Given the description of an element on the screen output the (x, y) to click on. 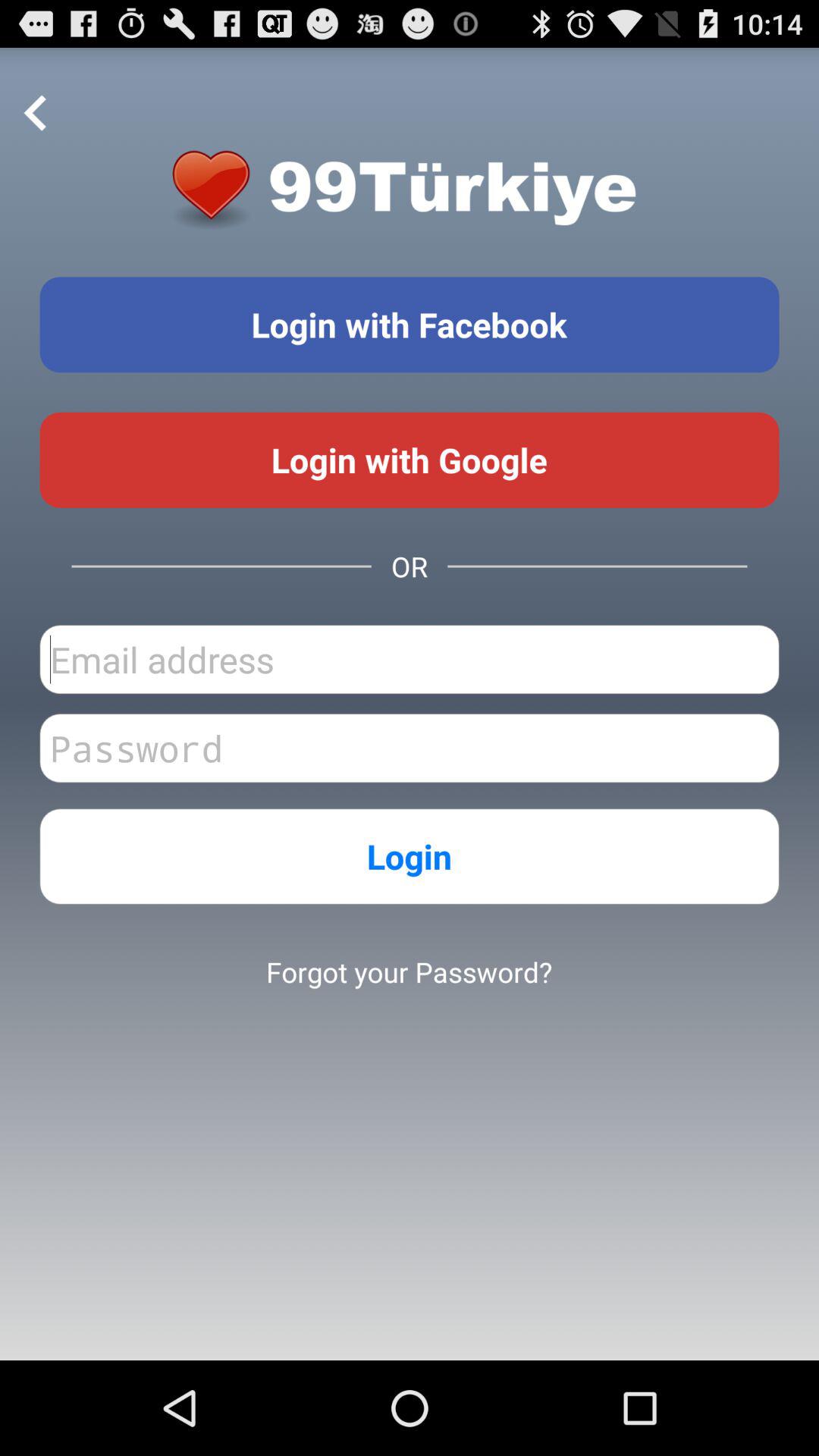
use google login (409, 459)
